Given the description of an element on the screen output the (x, y) to click on. 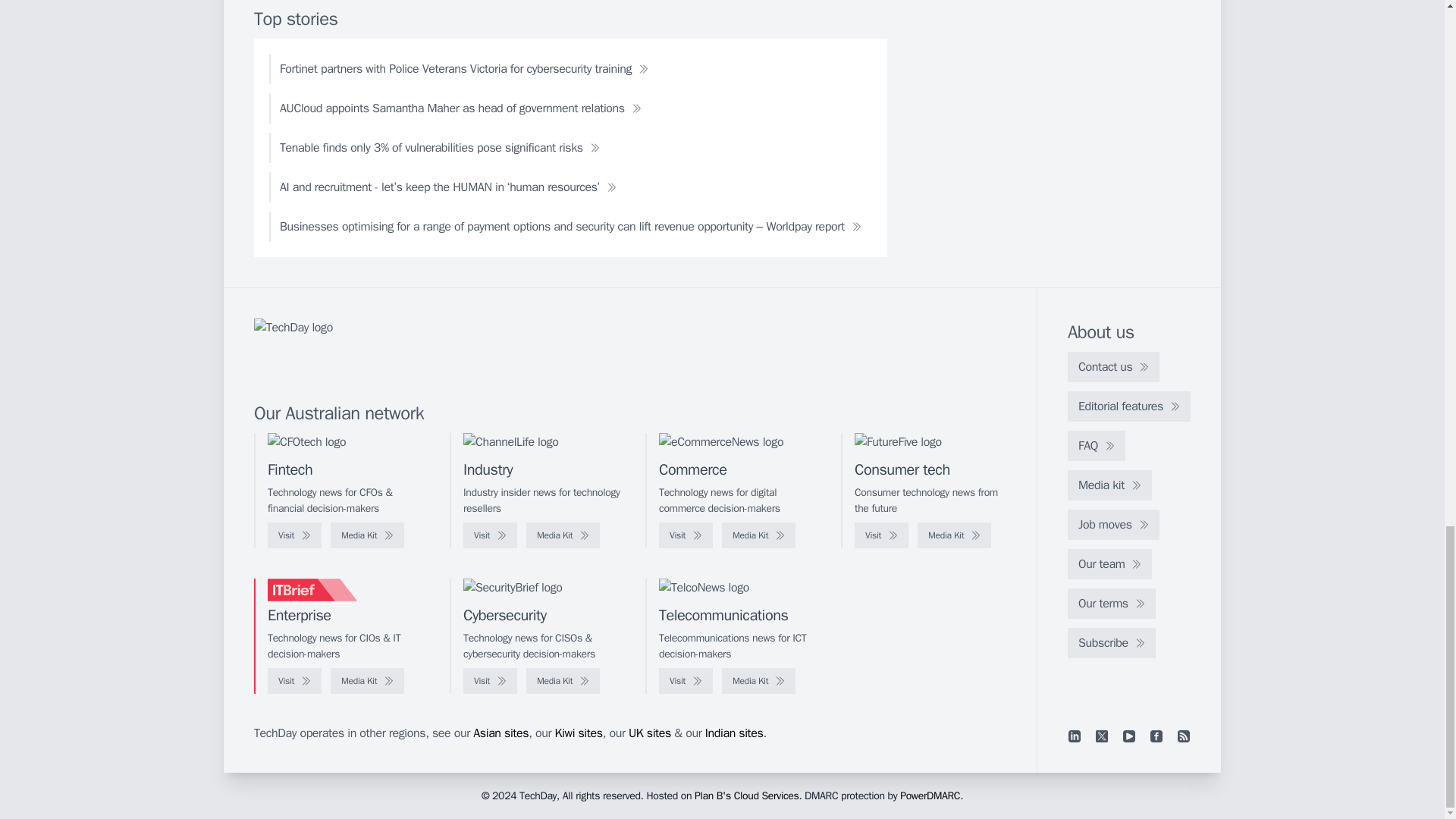
Visit (881, 534)
Media Kit (954, 534)
Media Kit (562, 534)
Visit (686, 534)
Media Kit (758, 534)
Media Kit (367, 534)
Visit (294, 534)
Visit (489, 534)
